Given the description of an element on the screen output the (x, y) to click on. 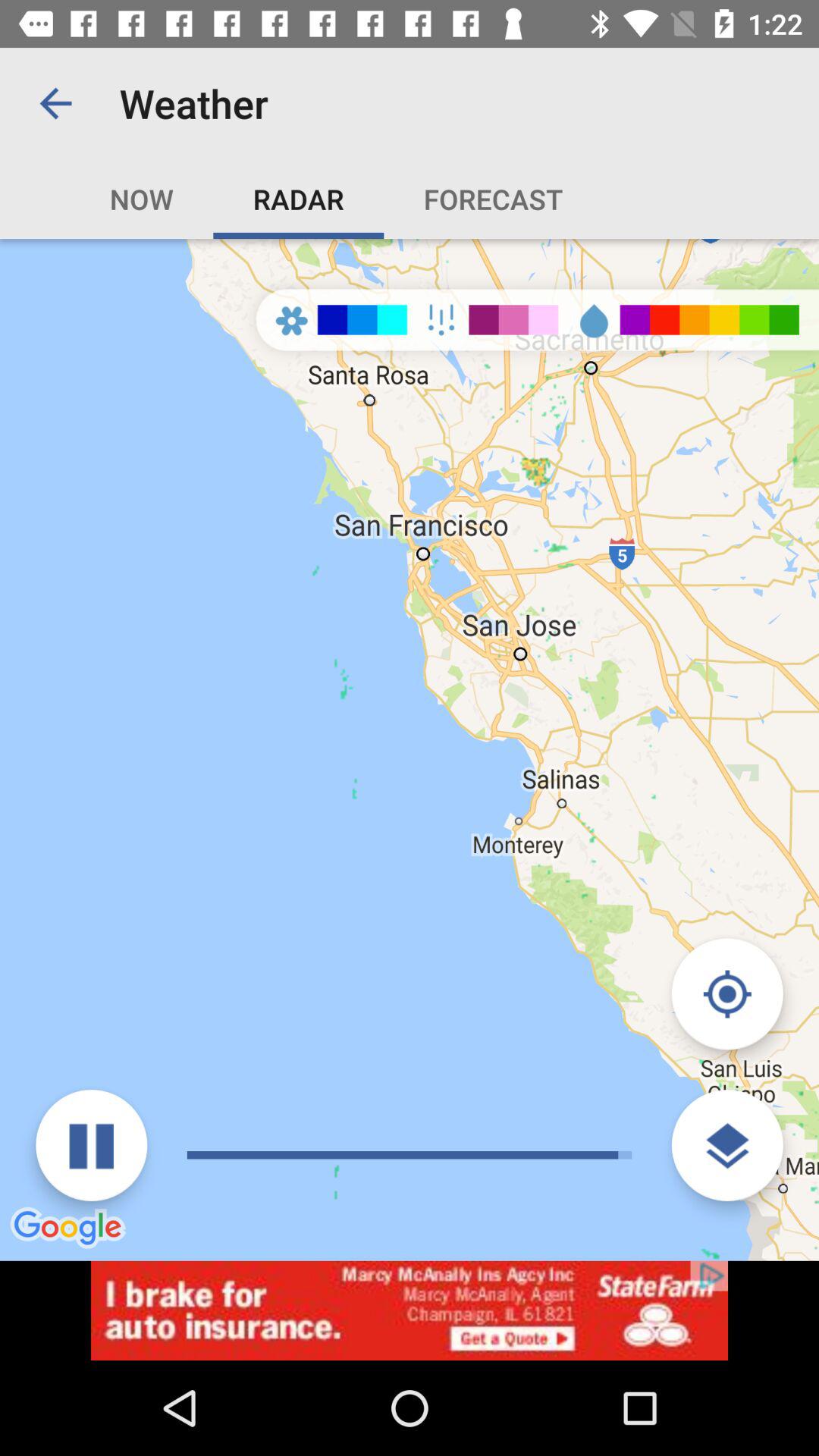
visit advertiser (409, 1310)
